Given the description of an element on the screen output the (x, y) to click on. 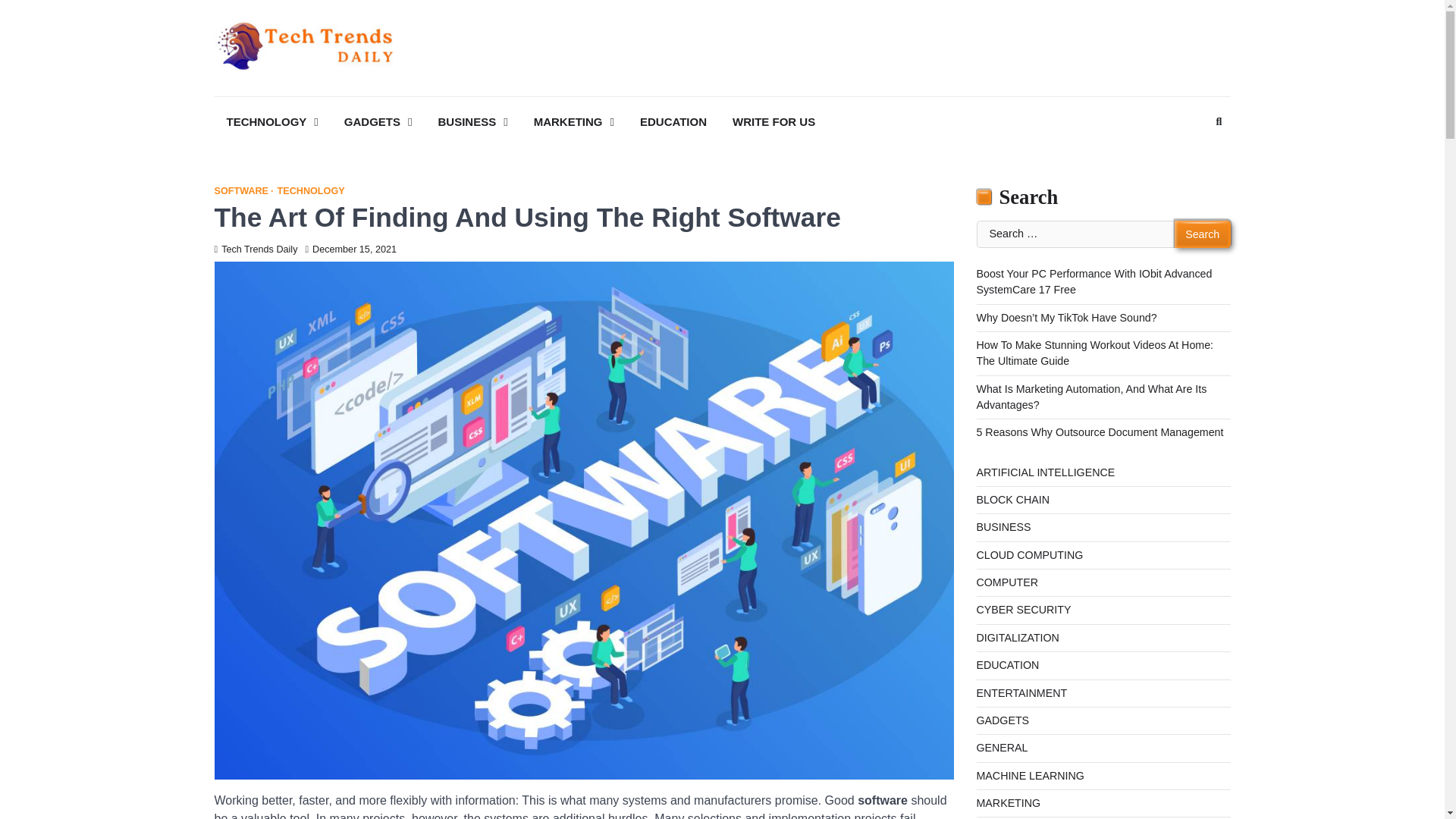
TECHNOLOGY (311, 191)
EDUCATION (673, 122)
GADGETS (378, 122)
Tech Trends Daily (255, 249)
WRITE FOR US (773, 122)
Search (1191, 158)
TECHNOLOGY (272, 122)
Search (1202, 234)
BUSINESS (472, 122)
Search (1202, 234)
MARKETING (573, 122)
SOFTWARE (243, 191)
Search (1218, 121)
December 15, 2021 (350, 249)
